Given the description of an element on the screen output the (x, y) to click on. 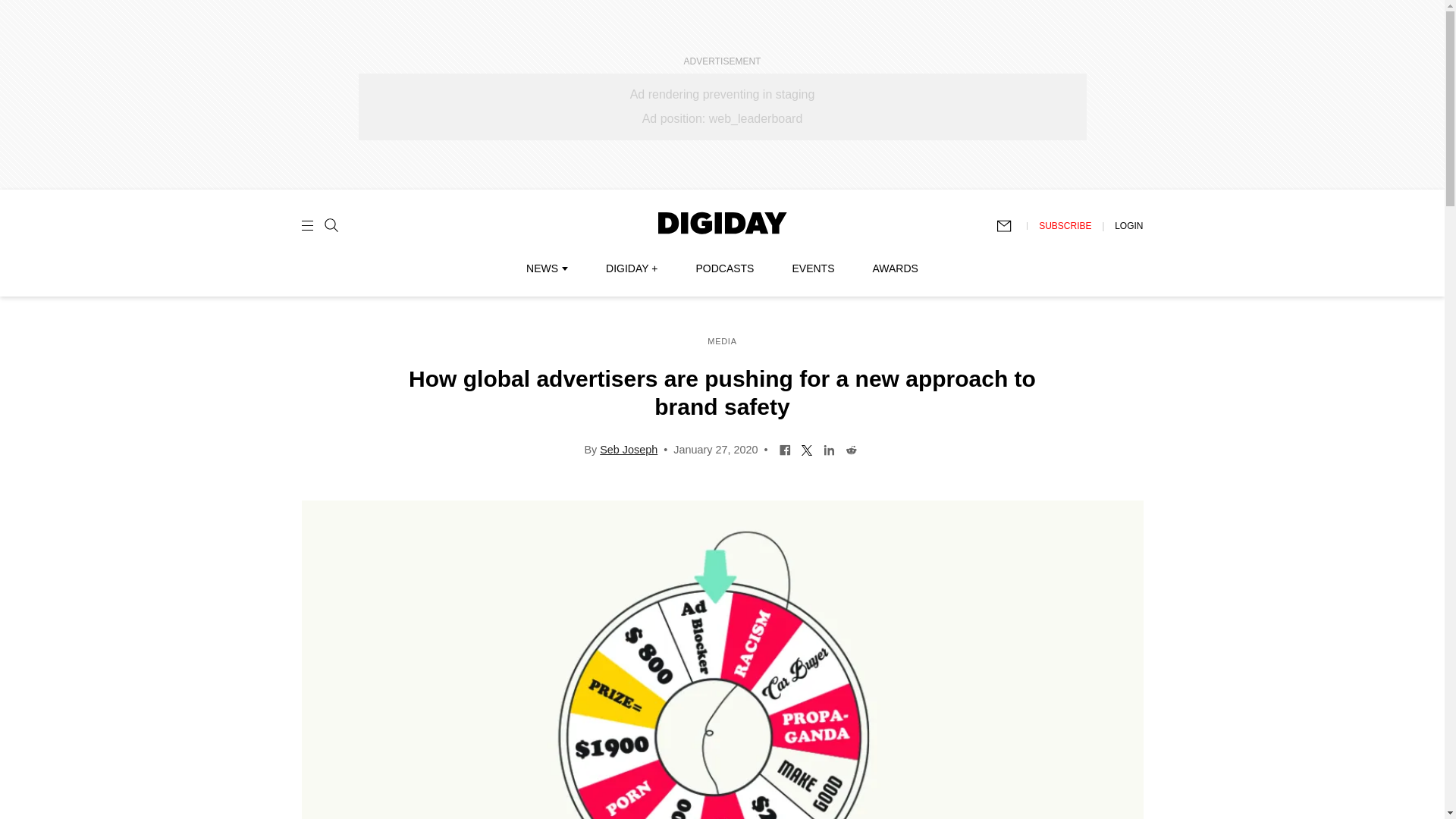
SUBSCRIBE (1064, 225)
NEWS (546, 267)
Share on LinkedIn (828, 449)
Share on Facebook (785, 449)
LOGIN (1128, 225)
EVENTS (813, 267)
Subscribe (1010, 225)
PODCASTS (725, 267)
AWARDS (894, 267)
Share on Twitter (806, 449)
